Given the description of an element on the screen output the (x, y) to click on. 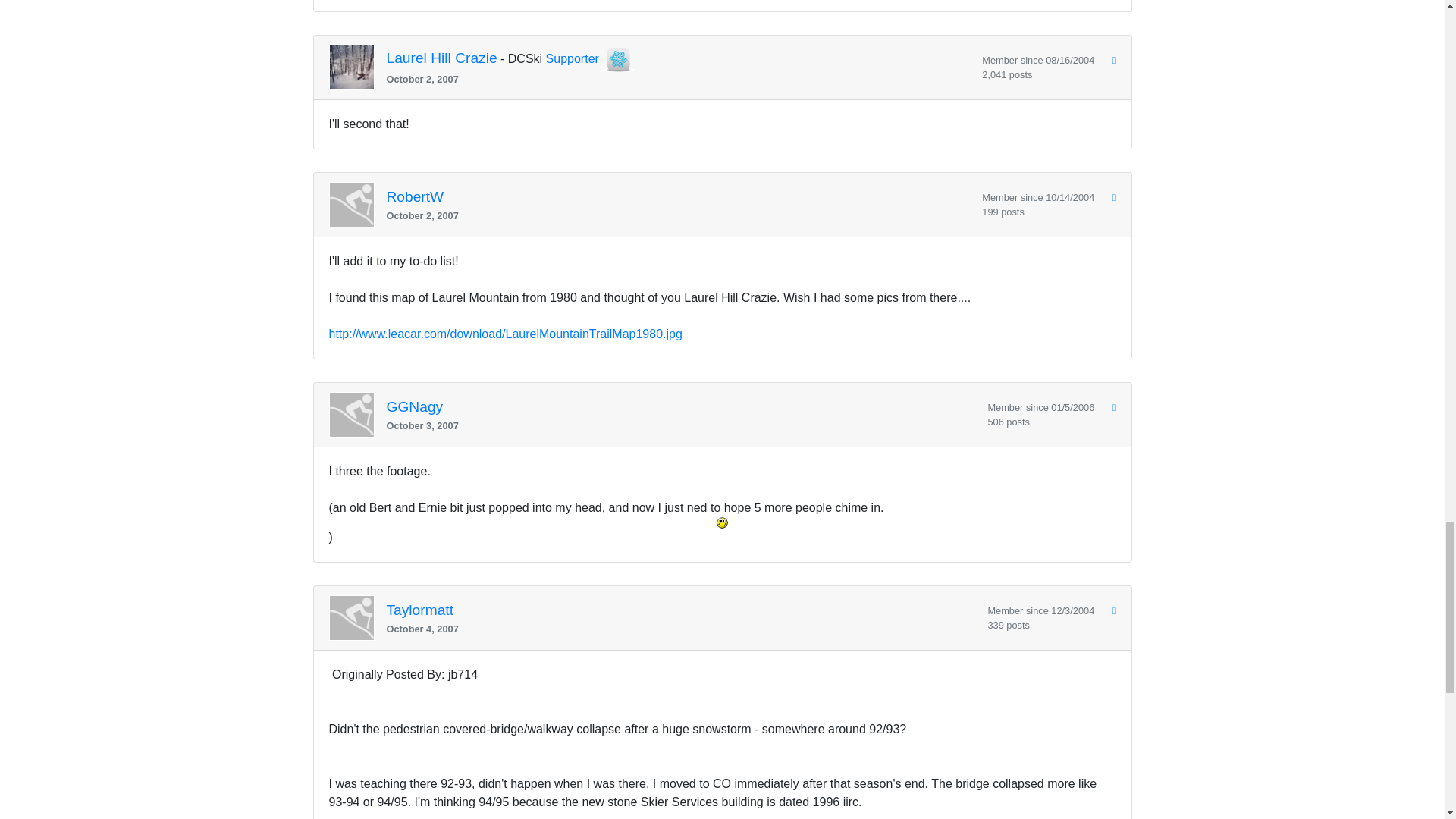
October 2, 2007 at 09:05 pm (679, 79)
October 3, 2007 at 08:05 am (681, 425)
smile (722, 522)
October 4, 2007 at 06:17 pm (681, 628)
October 2, 2007 at 10:41 pm (679, 215)
